Given the description of an element on the screen output the (x, y) to click on. 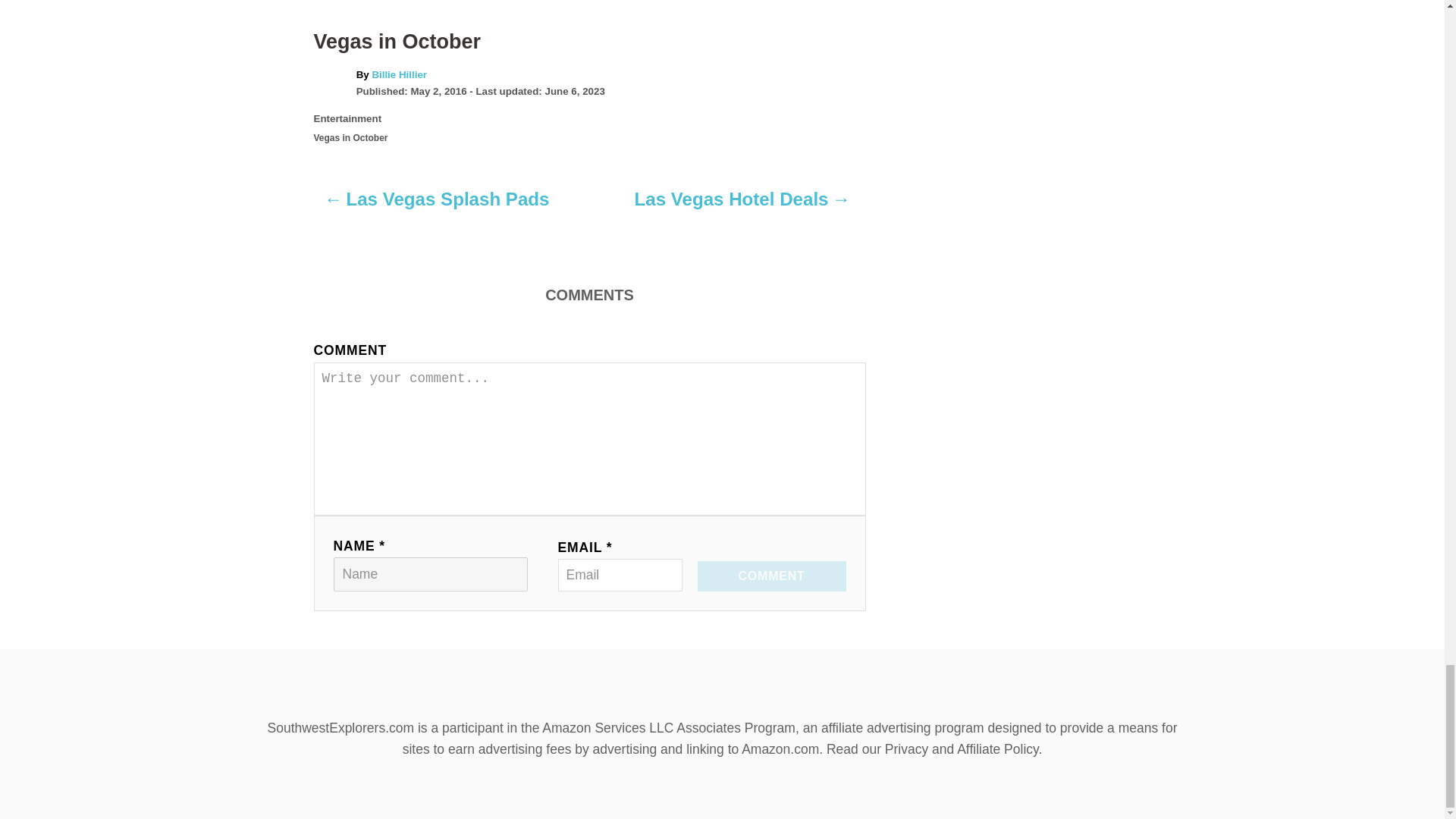
Las Vegas Splash Pads (437, 206)
Entertainment (347, 118)
COMMENT (771, 576)
Las Vegas Hotel Deals (741, 206)
Billie Hillier (398, 74)
